Given the description of an element on the screen output the (x, y) to click on. 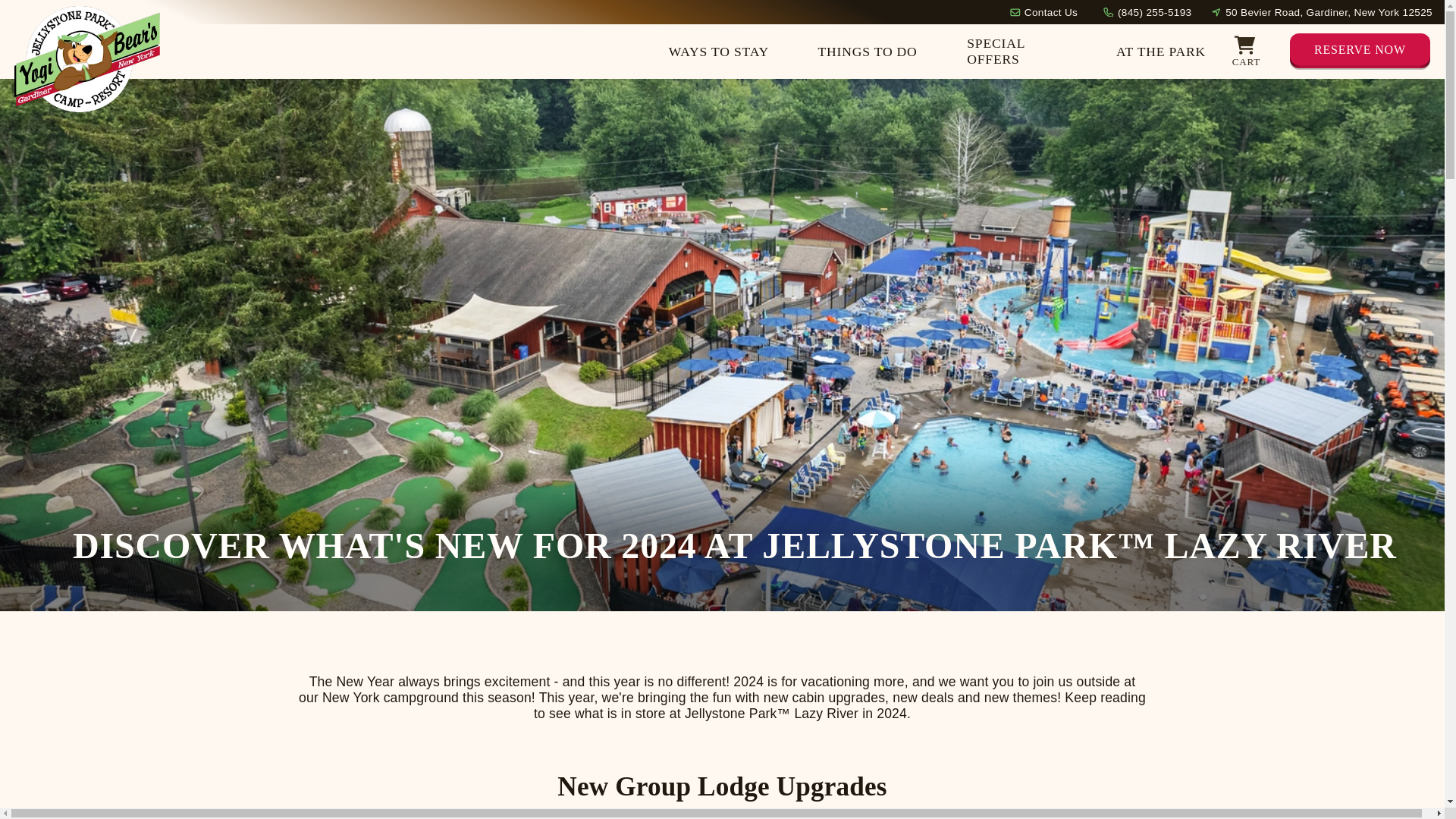
Contact Us (1051, 11)
50 Bevier Road, Gardiner, New York 12525 (1328, 11)
RESERVE NOW (1359, 51)
